Given the description of an element on the screen output the (x, y) to click on. 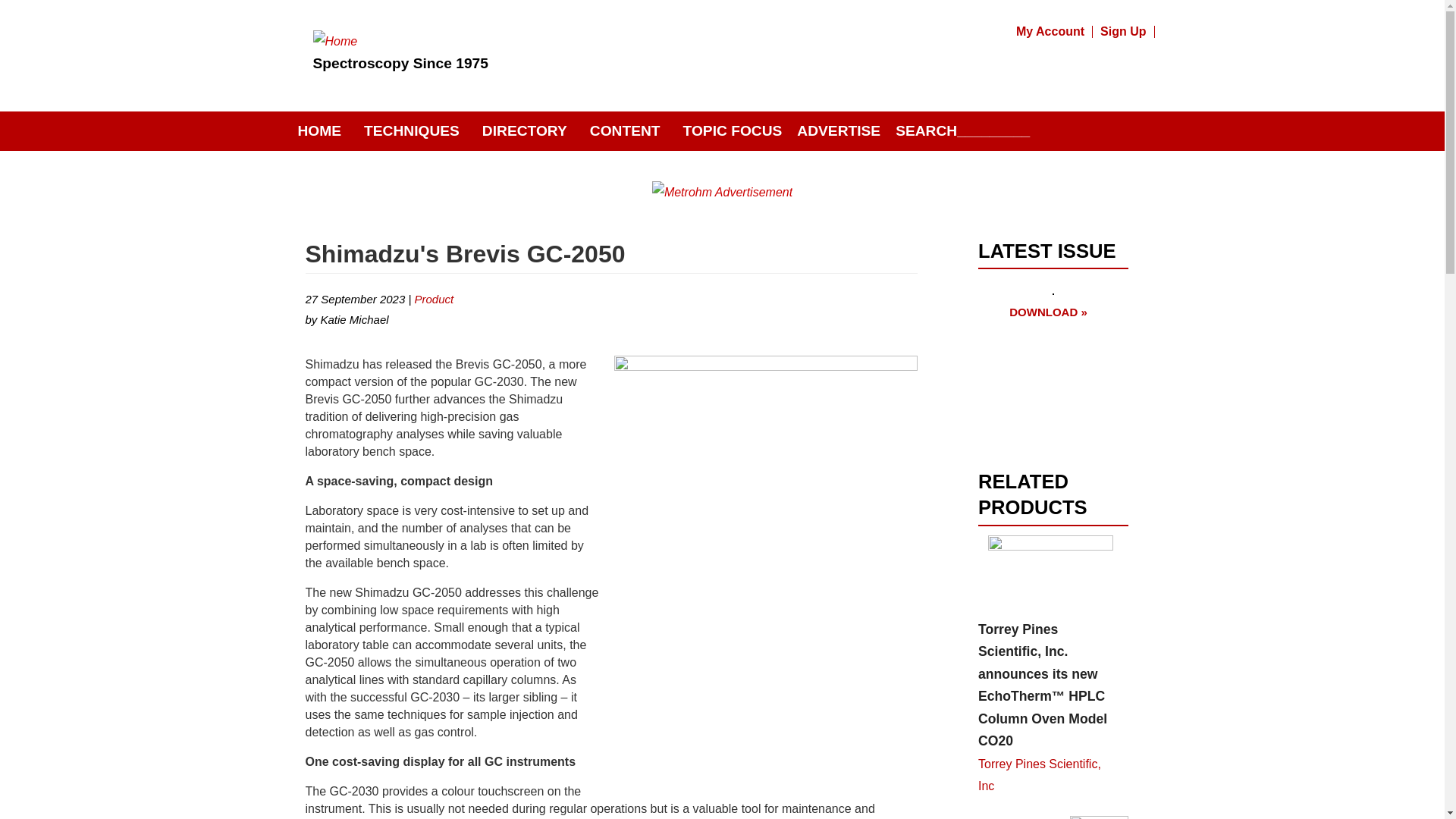
My Account (1051, 31)
TOPIC FOCUS (732, 131)
Sign Up (1123, 31)
Focussed topics (732, 131)
Home (334, 41)
ADVERTISE (838, 131)
HOME (319, 131)
DIRECTORY (524, 131)
